Given the description of an element on the screen output the (x, y) to click on. 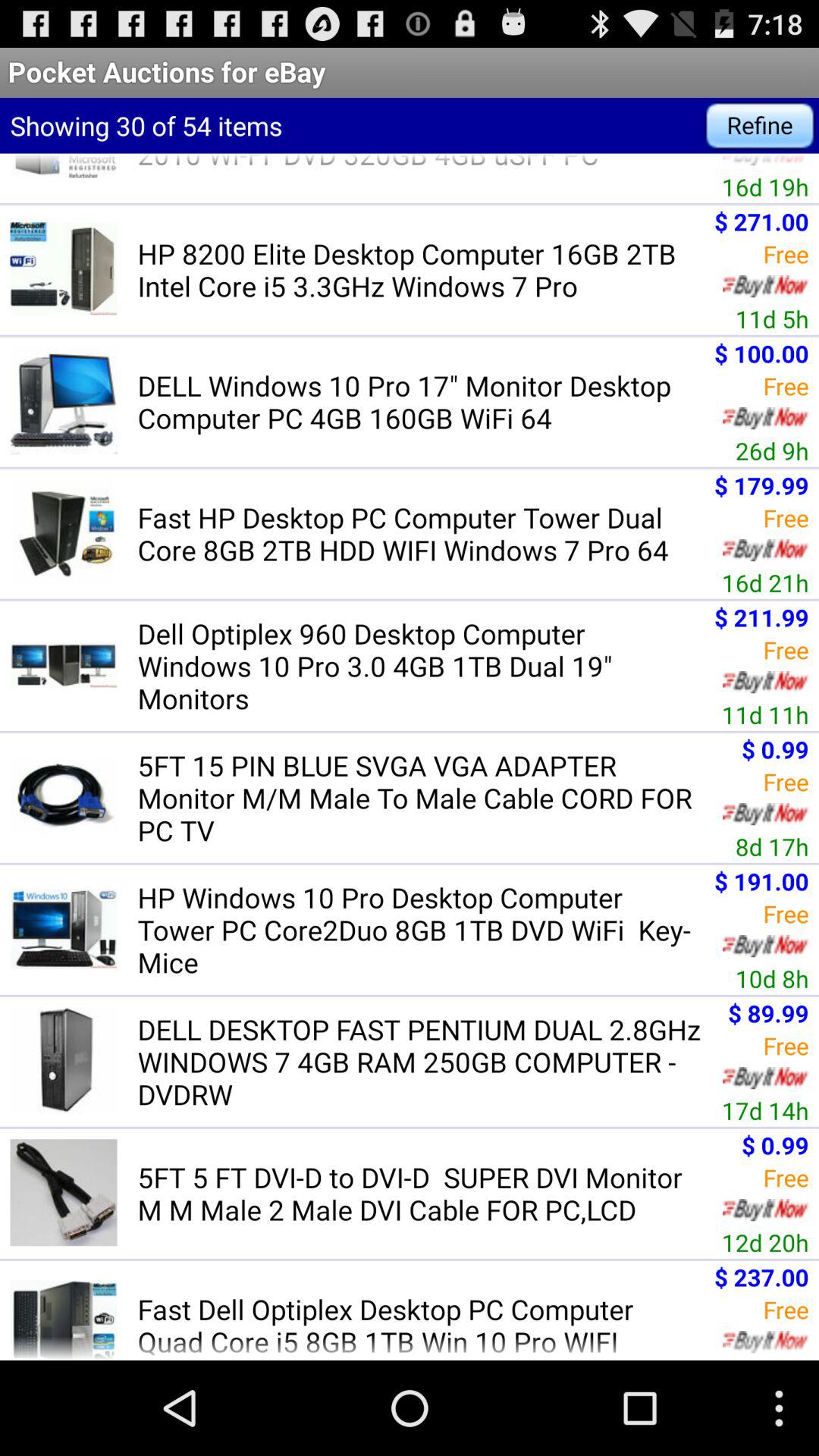
flip until the hp 8200 elite app (420, 269)
